Given the description of an element on the screen output the (x, y) to click on. 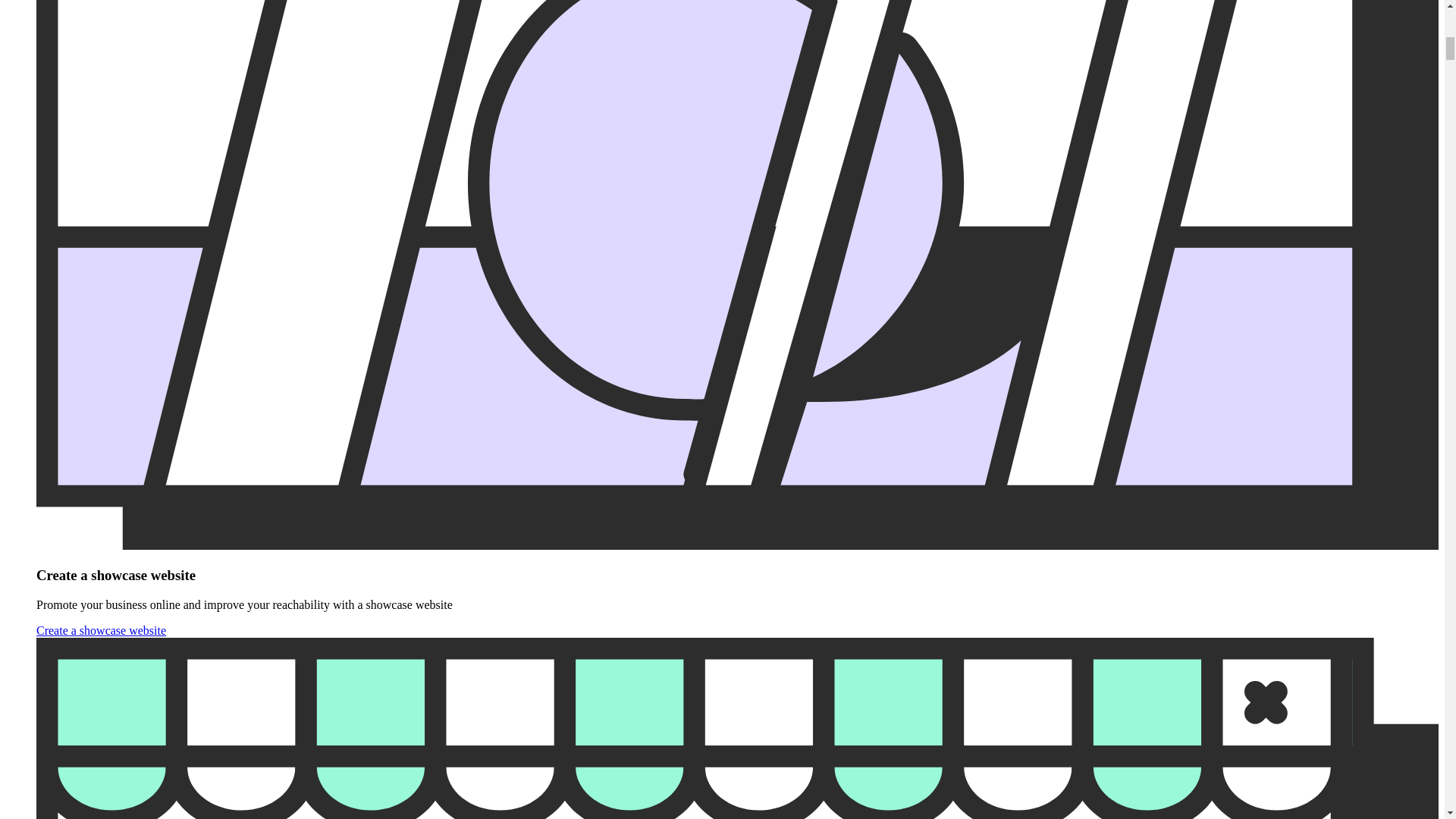
Create a showcase website (100, 630)
